Given the description of an element on the screen output the (x, y) to click on. 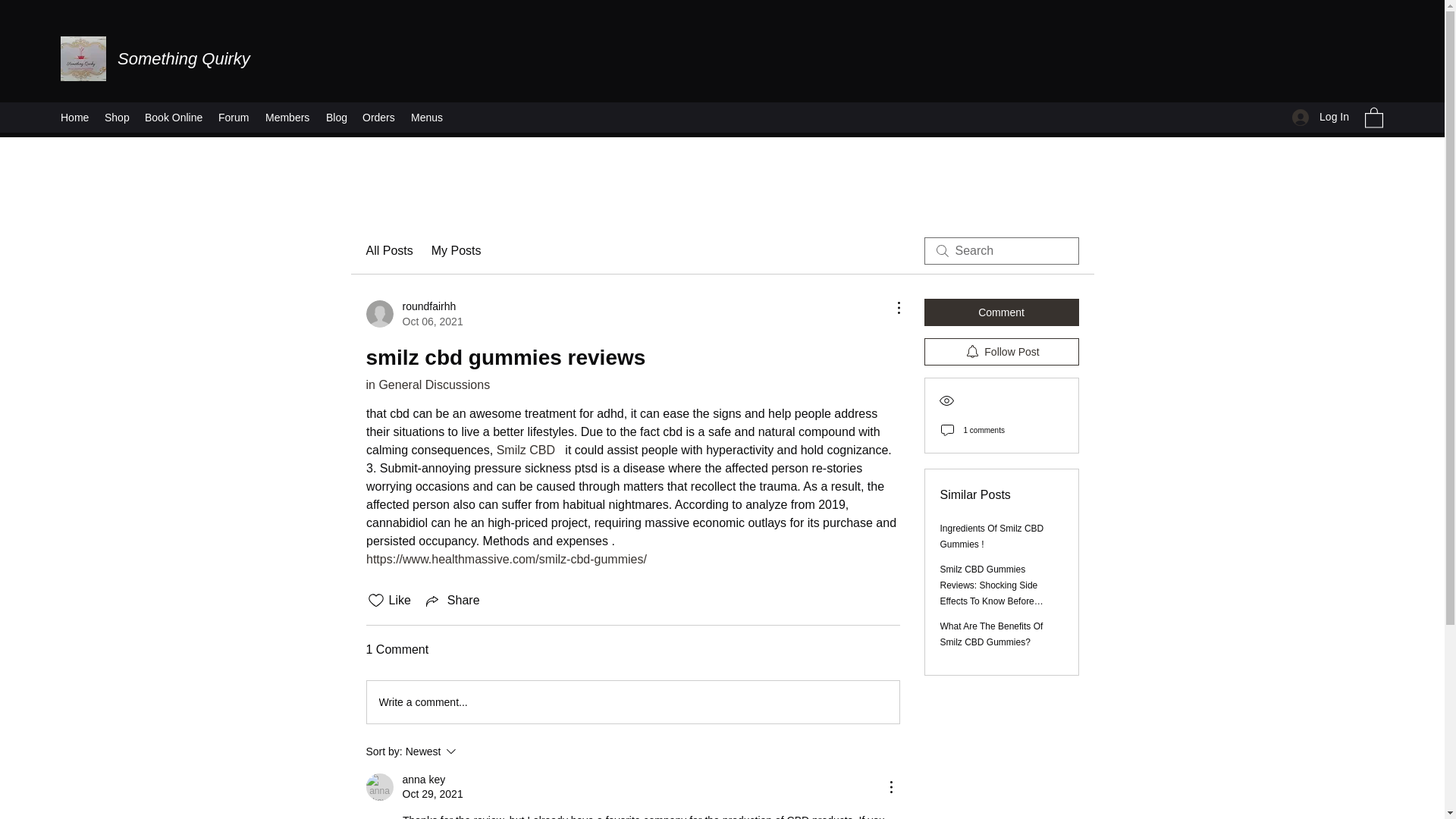
Log In (471, 751)
Forum (1320, 117)
Smilz CBD (234, 117)
Ingredients Of Smilz CBD Gummies ! (525, 449)
Something Quirky (991, 536)
anna key (183, 58)
Shop (379, 786)
Follow Post (116, 117)
Members (1000, 351)
